Given the description of an element on the screen output the (x, y) to click on. 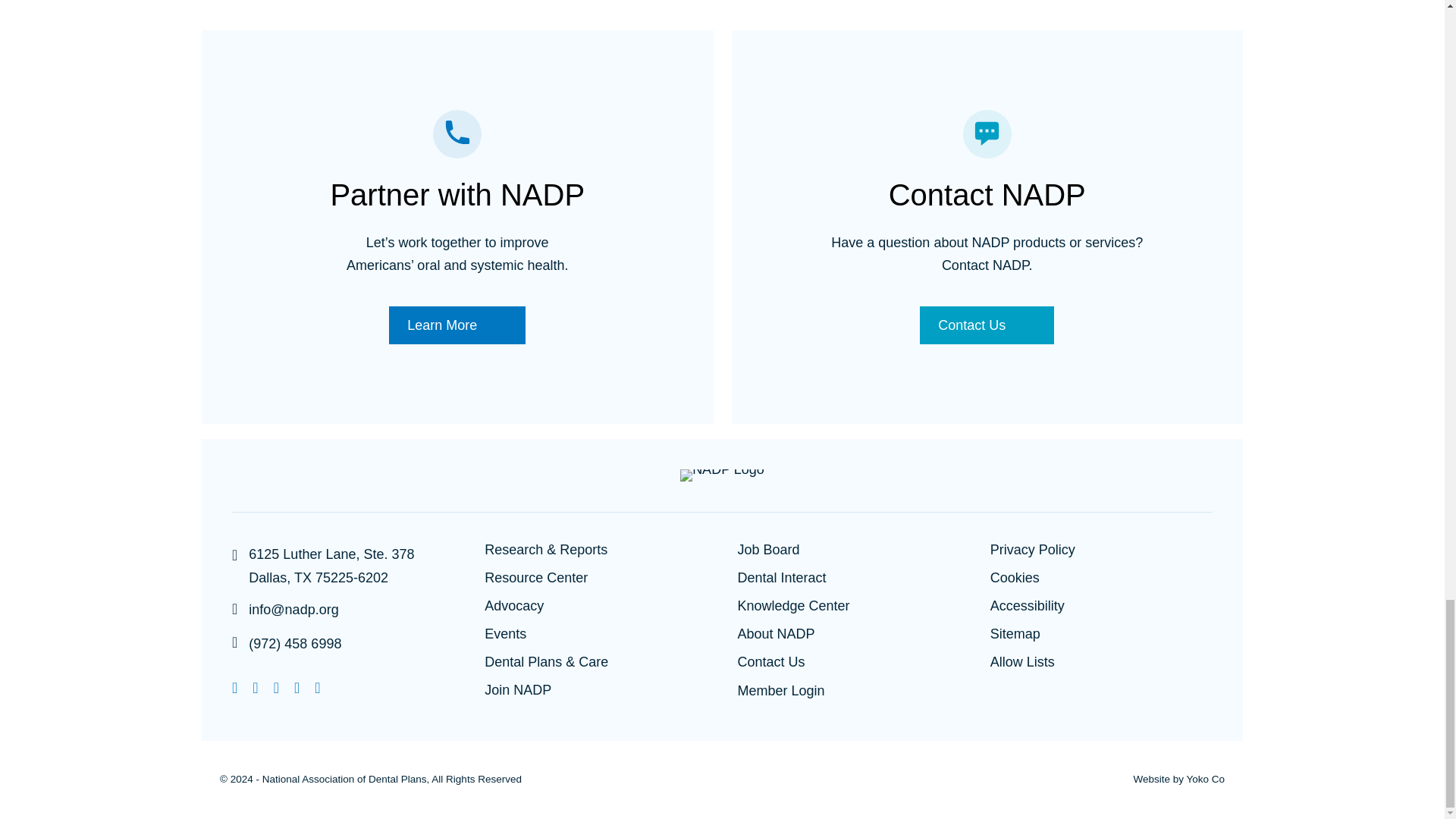
nadp-logo-text (721, 475)
Member Login (780, 691)
